Given the description of an element on the screen output the (x, y) to click on. 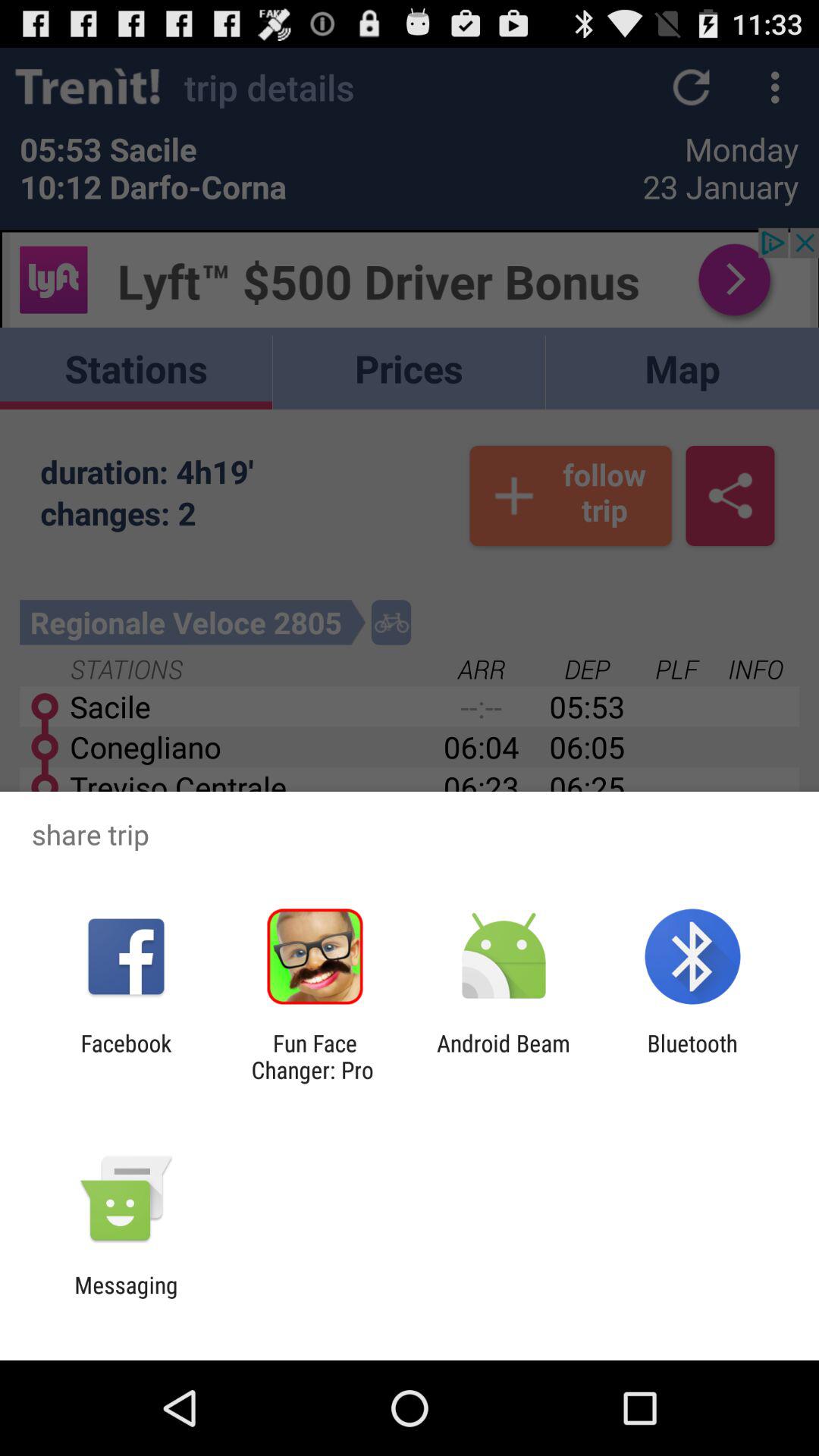
select the android beam (503, 1056)
